Given the description of an element on the screen output the (x, y) to click on. 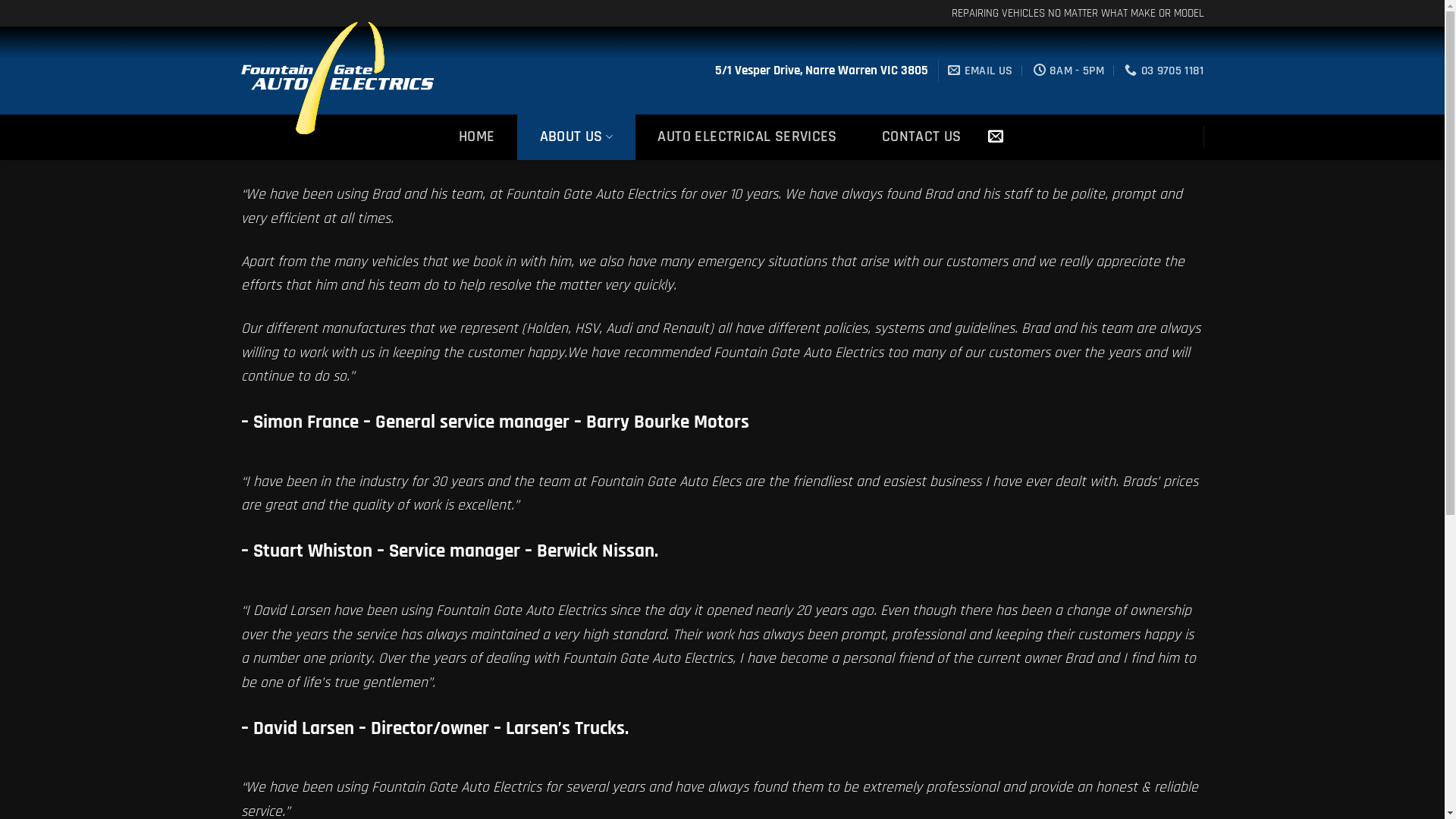
AUTO ELECTRICAL SERVICES Element type: text (747, 137)
ABOUT US Element type: text (576, 137)
03 9705 1181 Element type: text (1163, 69)
8AM - 5PM Element type: text (1068, 69)
Send us an email Element type: hover (995, 136)
CONTACT US Element type: text (921, 137)
Skip to content Element type: text (0, 0)
EMAIL US Element type: text (979, 69)
HOME Element type: text (476, 137)
